Given the description of an element on the screen output the (x, y) to click on. 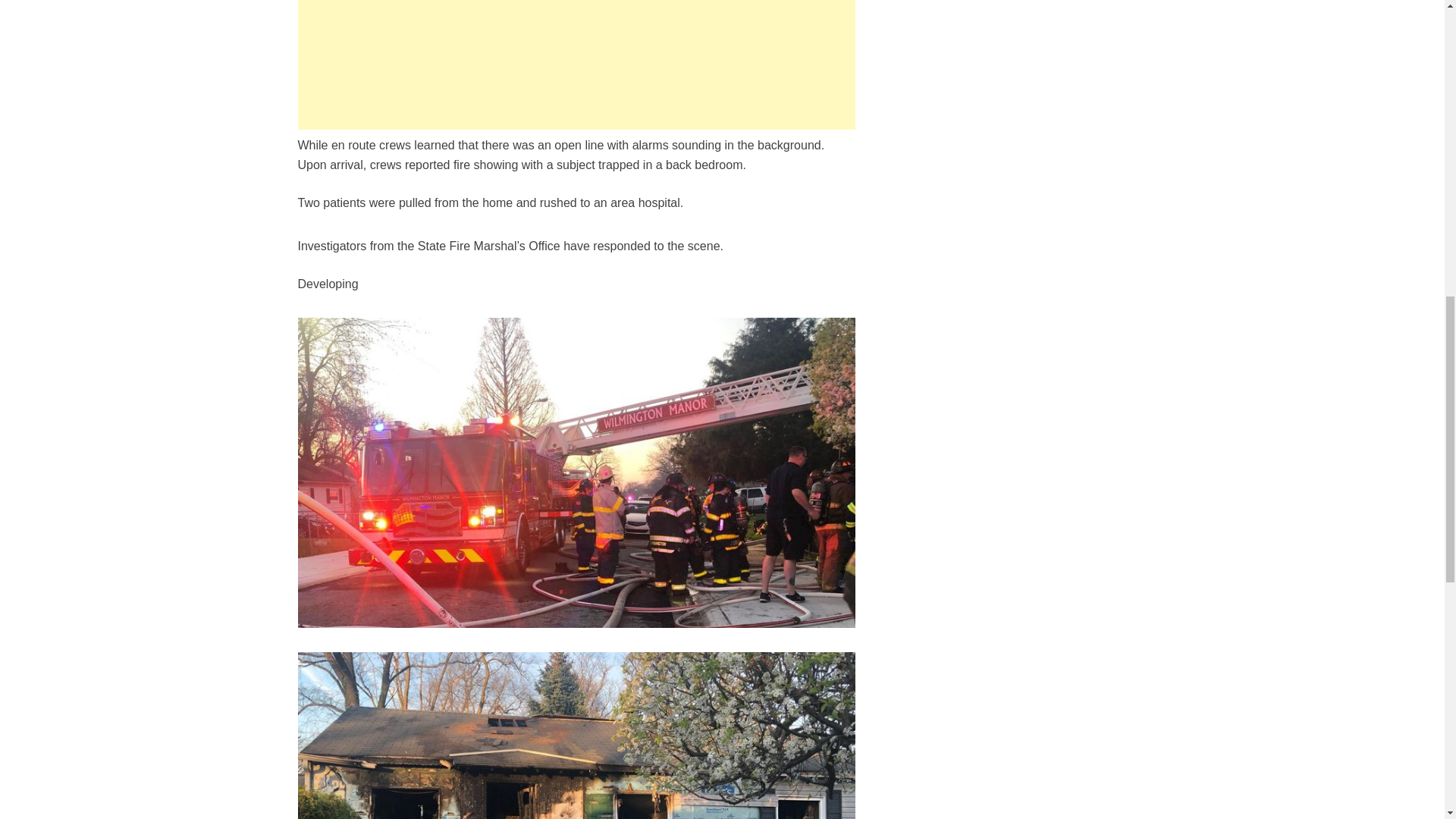
Advertisement (575, 64)
